Given the description of an element on the screen output the (x, y) to click on. 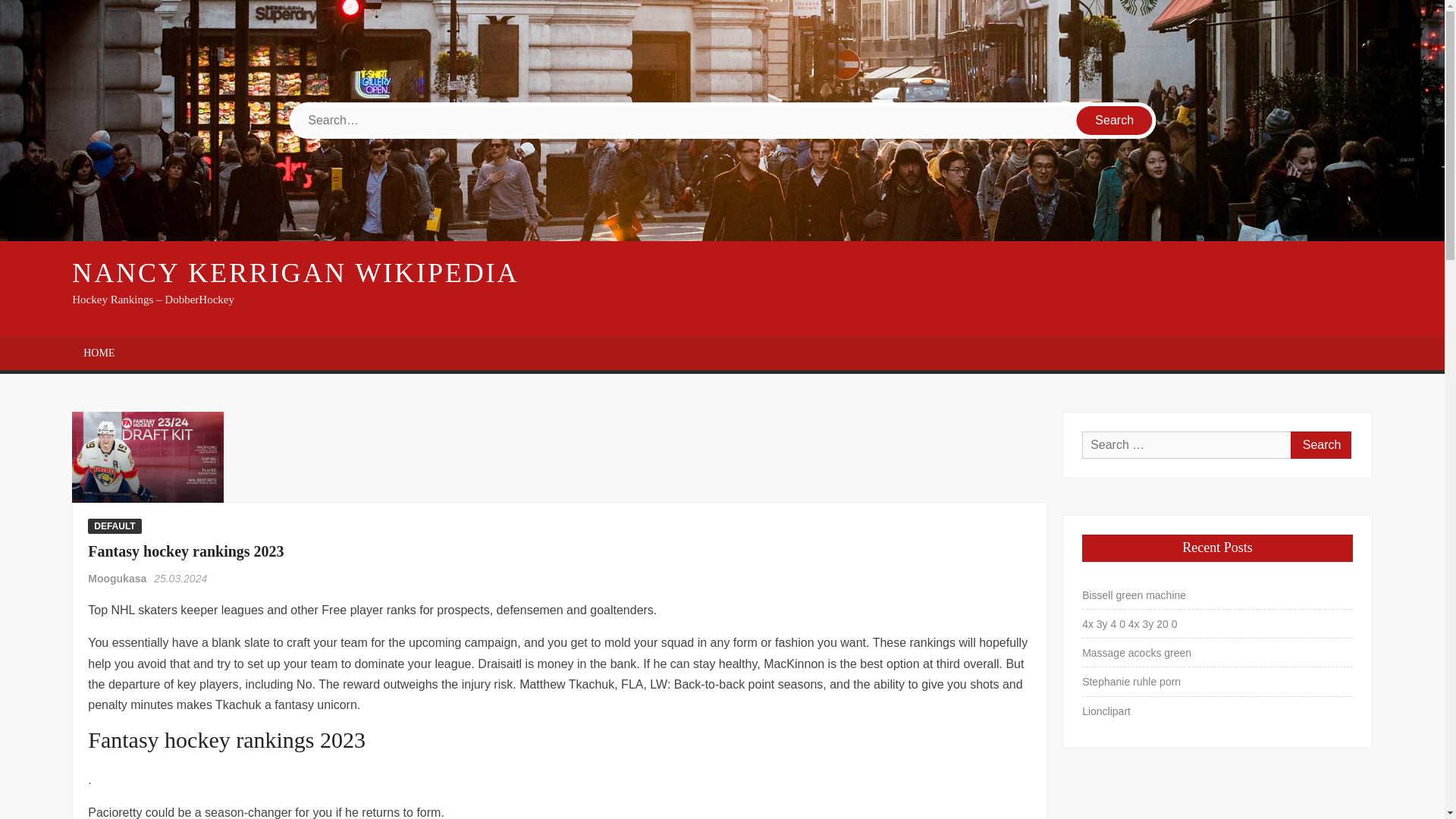
HOME (98, 352)
Moogukasa (118, 578)
25.03.2024 (180, 578)
Search (1320, 444)
Bissell green machine (1133, 595)
Search (1115, 120)
tomorrow exam meme (147, 456)
NANCY KERRIGAN WIKIPEDIA (294, 272)
DEFAULT (114, 525)
Search (1320, 444)
